Given the description of an element on the screen output the (x, y) to click on. 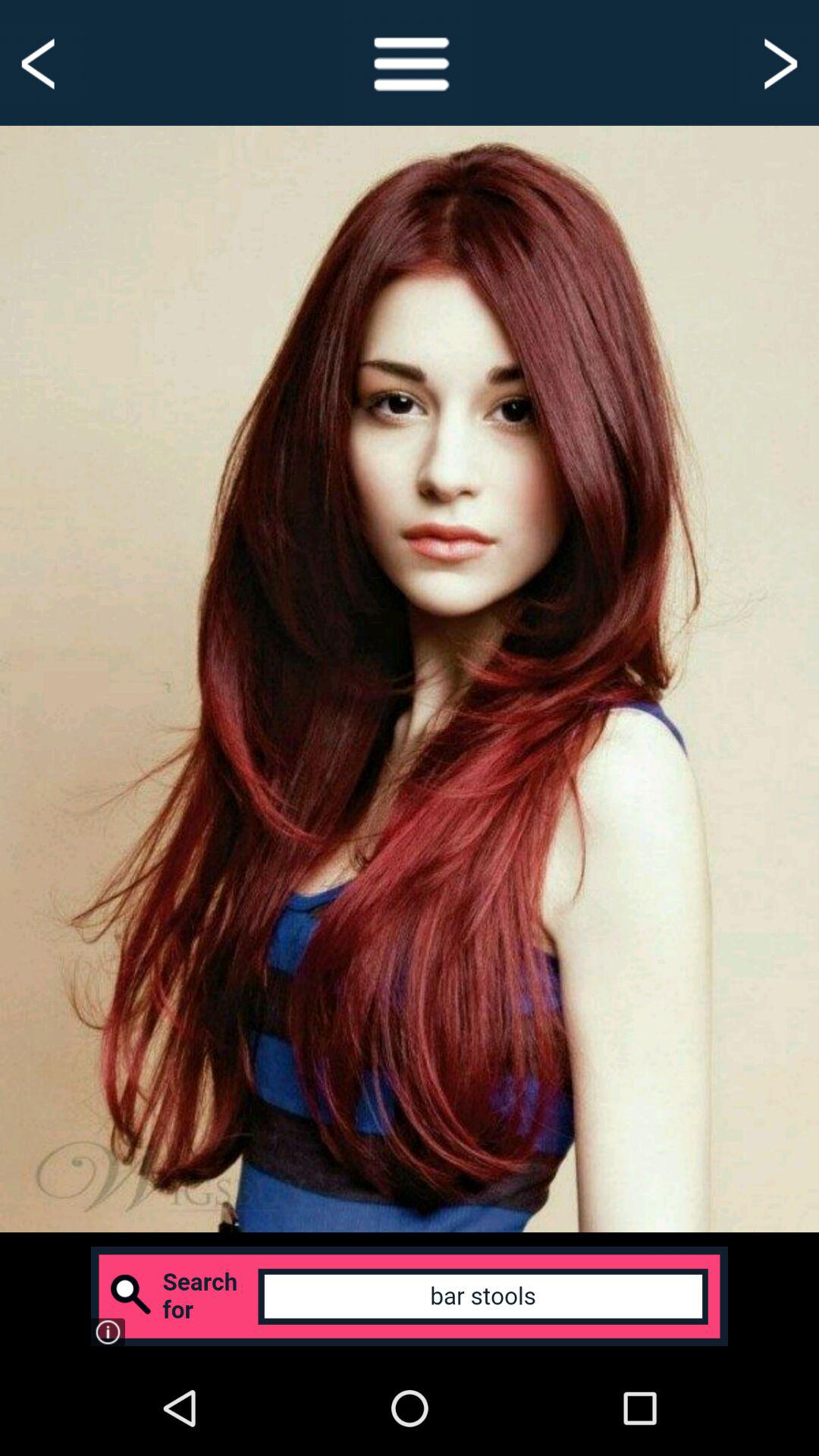
see more photos (778, 62)
